Given the description of an element on the screen output the (x, y) to click on. 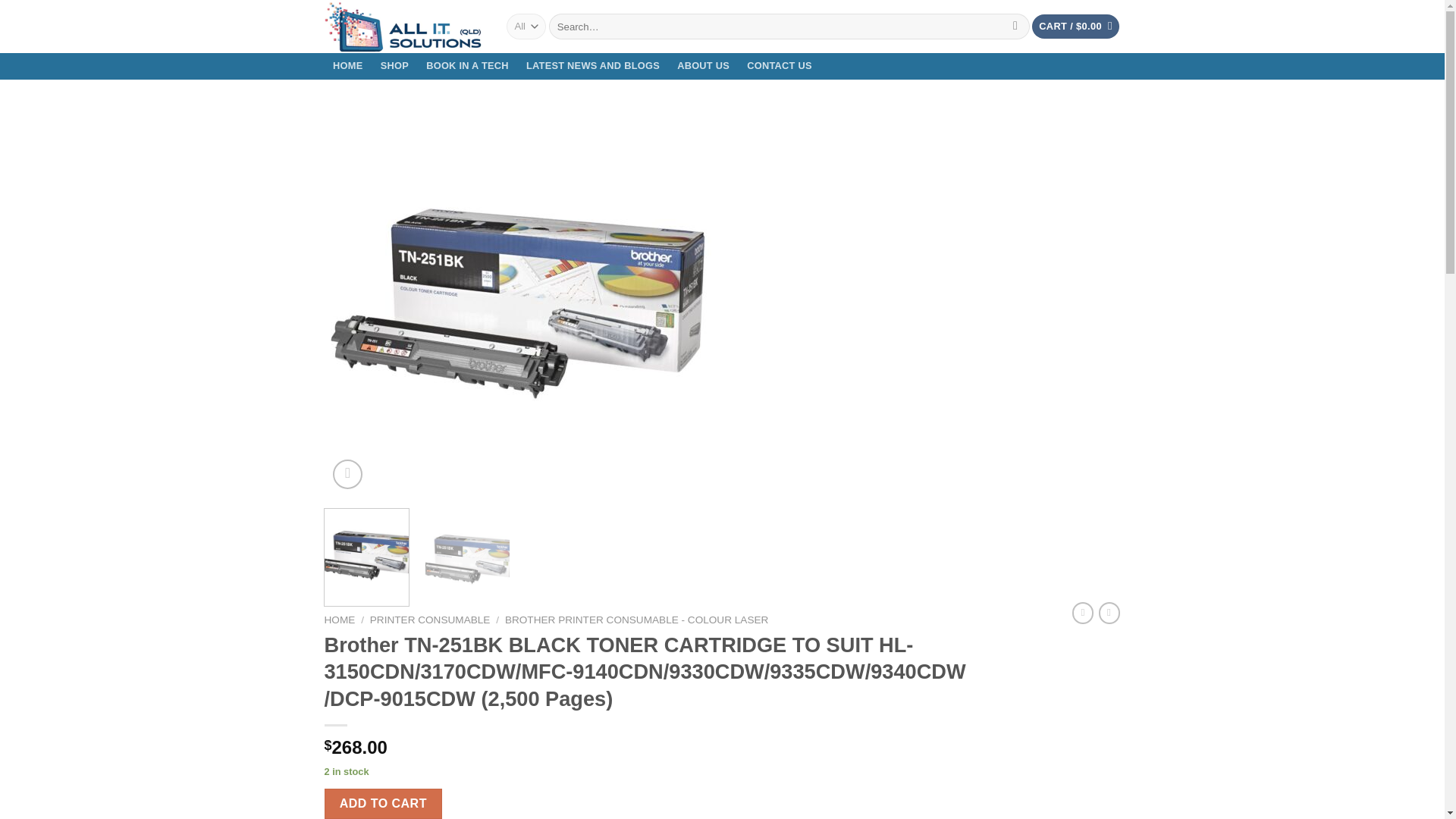
LATEST NEWS AND BLOGS (592, 66)
HOME (348, 66)
BOOK IN A TECH (467, 66)
Search (1015, 26)
Zoom (347, 473)
HOME (339, 619)
ABOUT US (703, 66)
SHOP (393, 66)
ADD TO CART (383, 803)
PRINTER CONSUMABLE (429, 619)
